Given the description of an element on the screen output the (x, y) to click on. 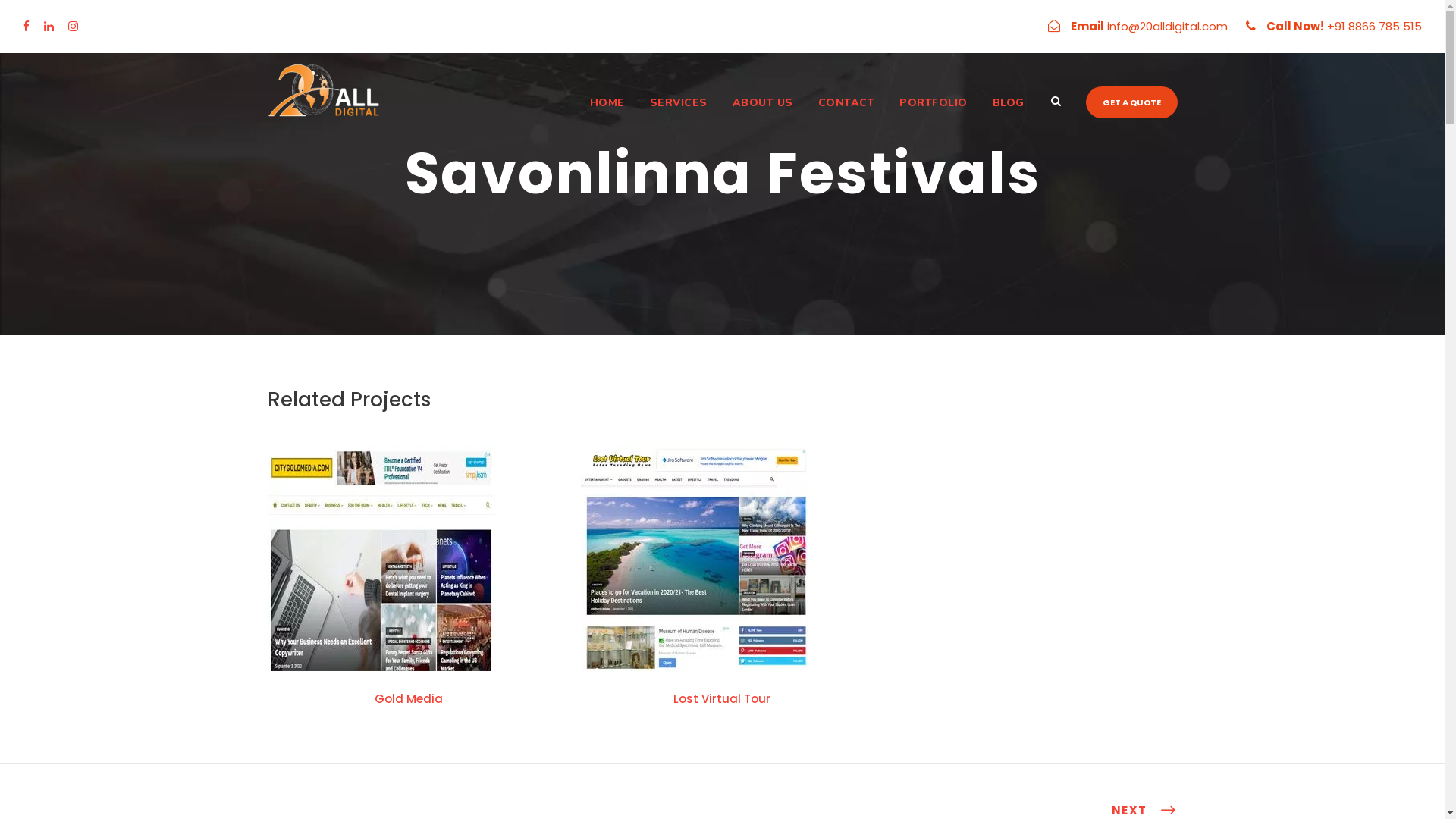
Gold Media Element type: text (408, 698)
SERVICES Element type: text (672, 116)
20 All Digital Element type: hover (323, 91)
BLOG Element type: text (1002, 116)
GET A QUOTE Element type: text (1131, 102)
Lost Virtual Tour Element type: hover (694, 557)
instagram Element type: hover (73, 26)
Lost Virtual Tour Element type: text (721, 698)
Gold Media Element type: hover (380, 557)
ABOUT US Element type: text (756, 116)
CONTACT Element type: text (840, 116)
linkedin Element type: hover (48, 26)
PORTFOLIO Element type: text (927, 116)
facebook Element type: hover (25, 26)
HOME Element type: text (600, 116)
